Given the description of an element on the screen output the (x, y) to click on. 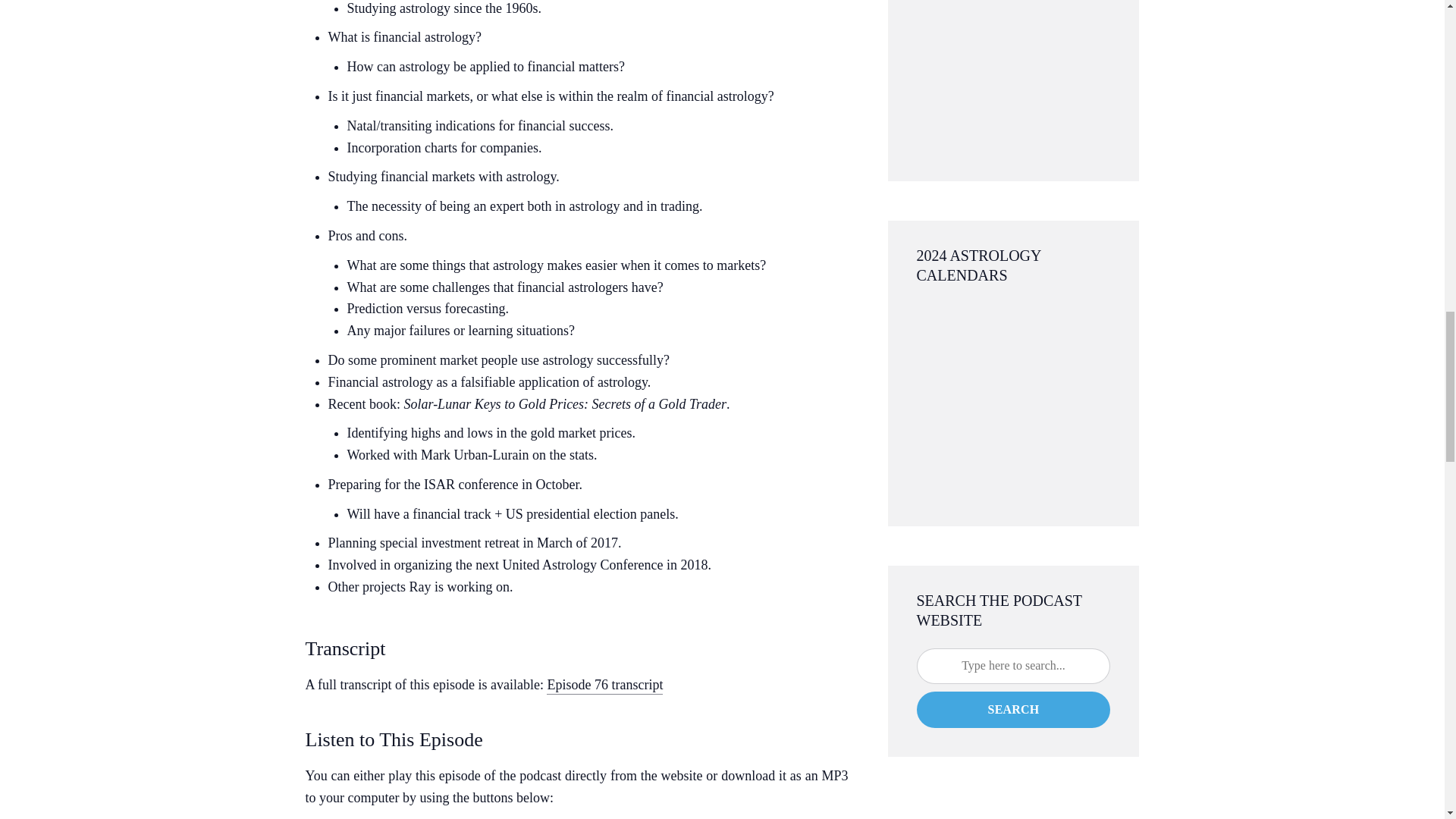
The Electional Astrology Podcast (1012, 76)
Episode 76 transcript (604, 685)
